Given the description of an element on the screen output the (x, y) to click on. 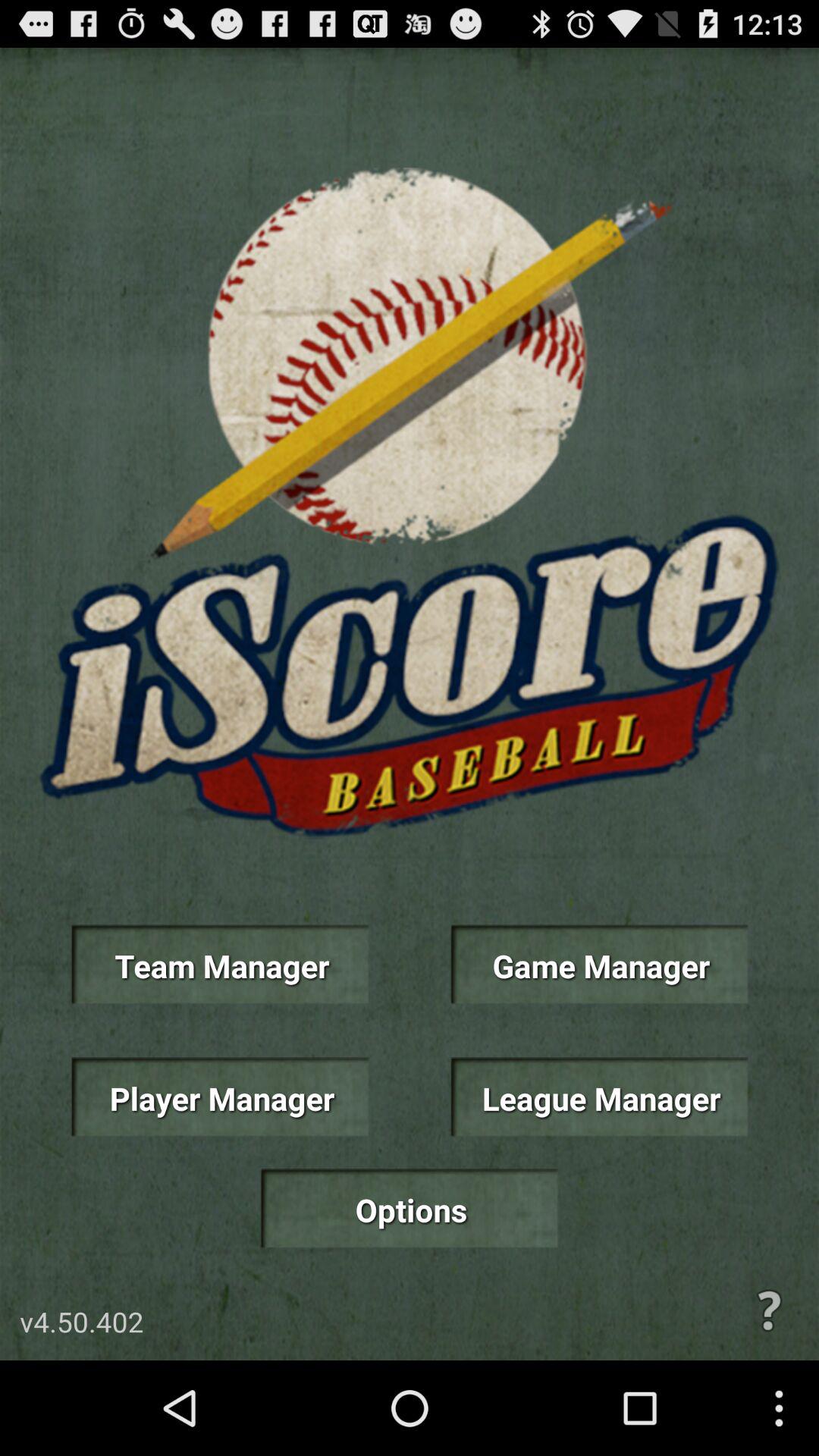
launch the button above the options icon (219, 1096)
